Given the description of an element on the screen output the (x, y) to click on. 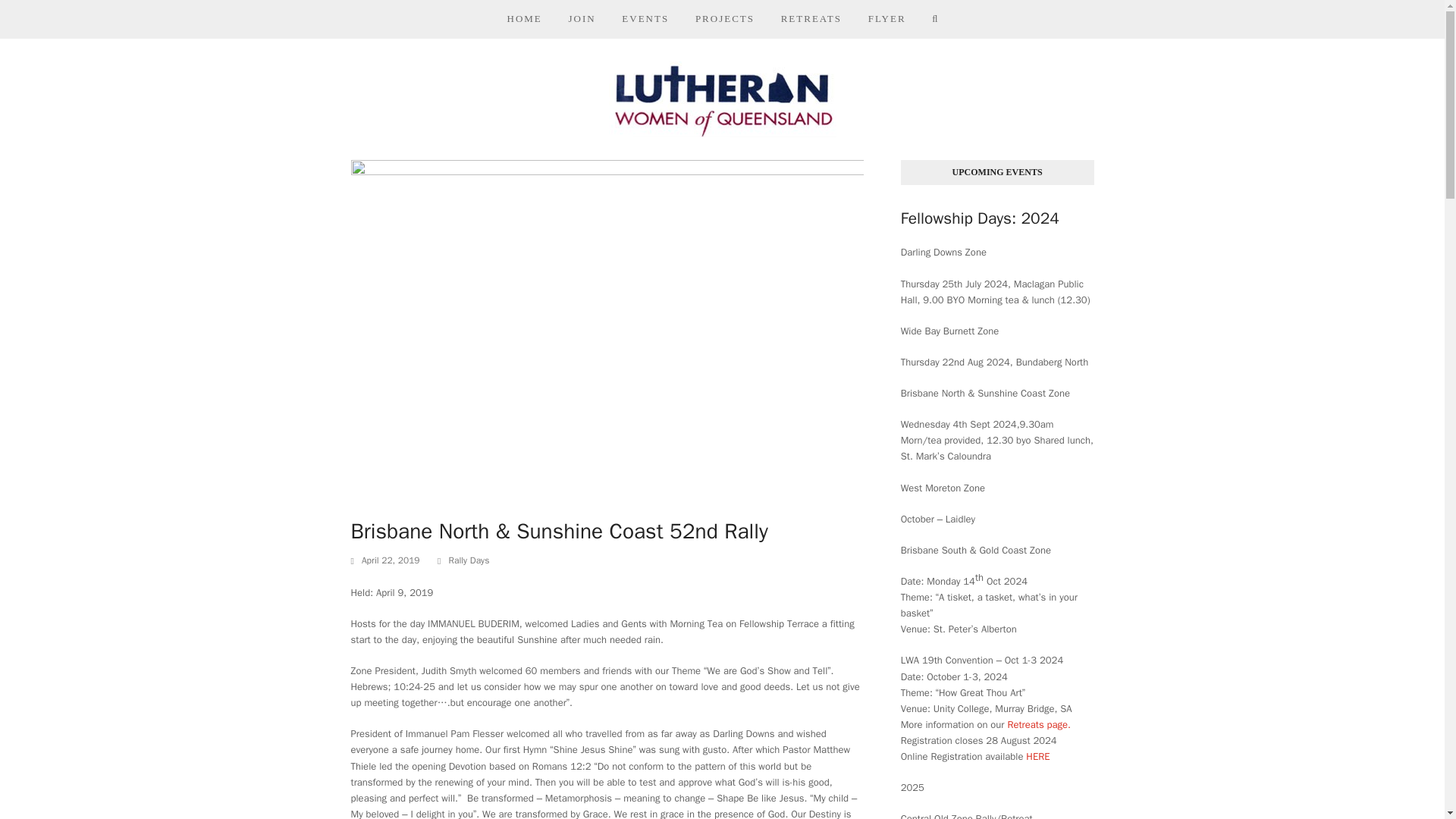
Retreats page. (1038, 724)
HERE (1037, 756)
EVENTS (645, 18)
Rally Days (468, 560)
PROJECTS (723, 18)
FLYER (886, 18)
RETREATS (810, 18)
HOME (524, 18)
JOIN (581, 18)
